Given the description of an element on the screen output the (x, y) to click on. 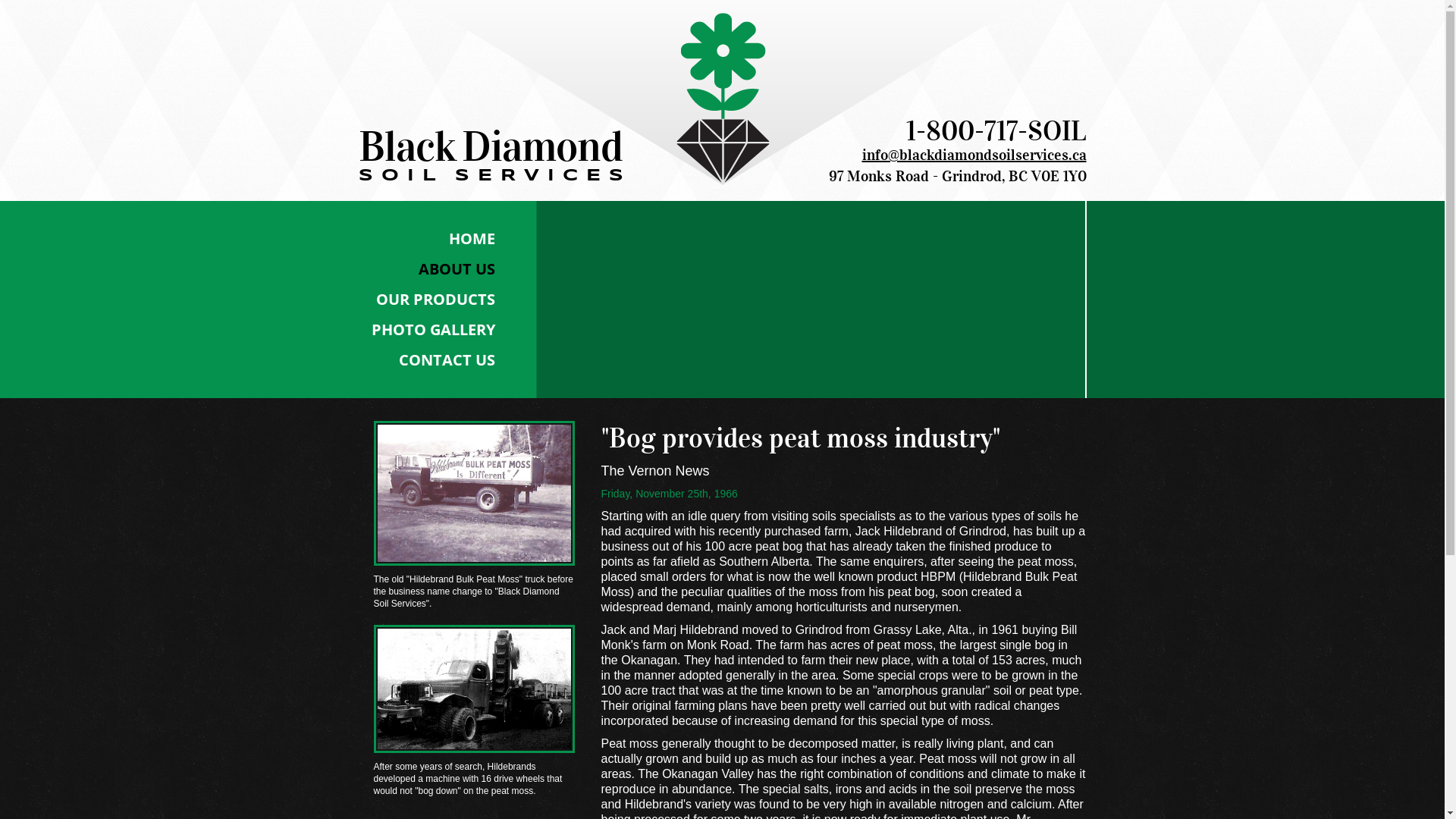
Black Diamond
SOIL SERVICES Element type: text (493, 155)
CONTACT US Element type: text (444, 360)
HOME Element type: text (444, 238)
info@blackdiamondsoilservices.ca Element type: text (973, 154)
PHOTO GALLERY Element type: text (444, 329)
OUR PRODUCTS Element type: text (444, 299)
ABOUT US Element type: text (444, 269)
